Given the description of an element on the screen output the (x, y) to click on. 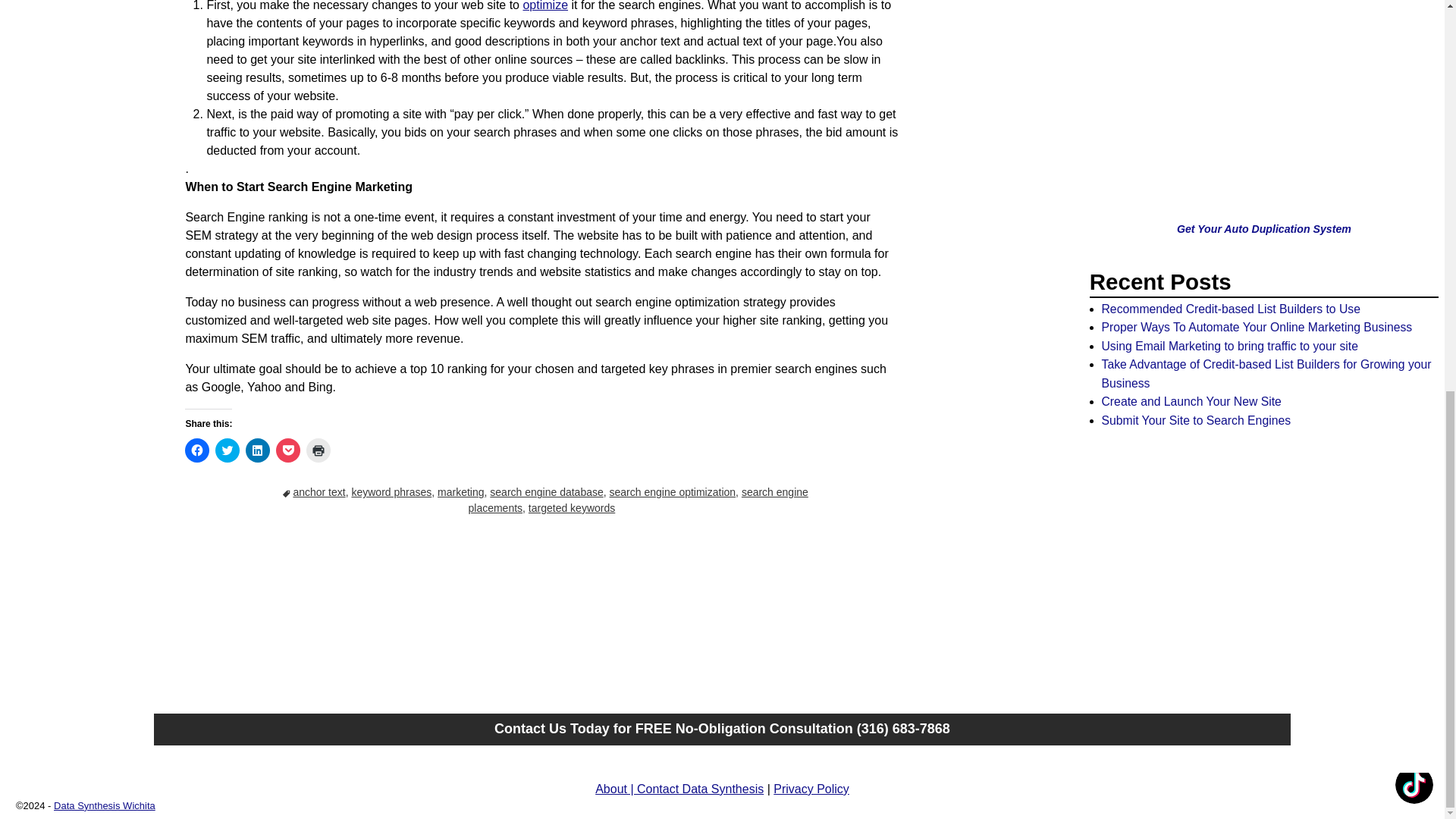
Using Email Marketing to bring traffic to your site (1228, 345)
Data Synthesis Wichita (104, 805)
Click to share on Twitter (227, 450)
Click to print (317, 450)
Create and Launch Your New Site (1190, 400)
search engine database (545, 491)
Submit Your Site to Search Engines (1195, 420)
Click to share on LinkedIn (257, 450)
Recommended Credit-based List Builders to Use (1229, 308)
search engine placements (637, 500)
Click to share on Facebook (196, 450)
anchor text (318, 491)
targeted keywords (571, 508)
Privacy Policy (810, 788)
